Given the description of an element on the screen output the (x, y) to click on. 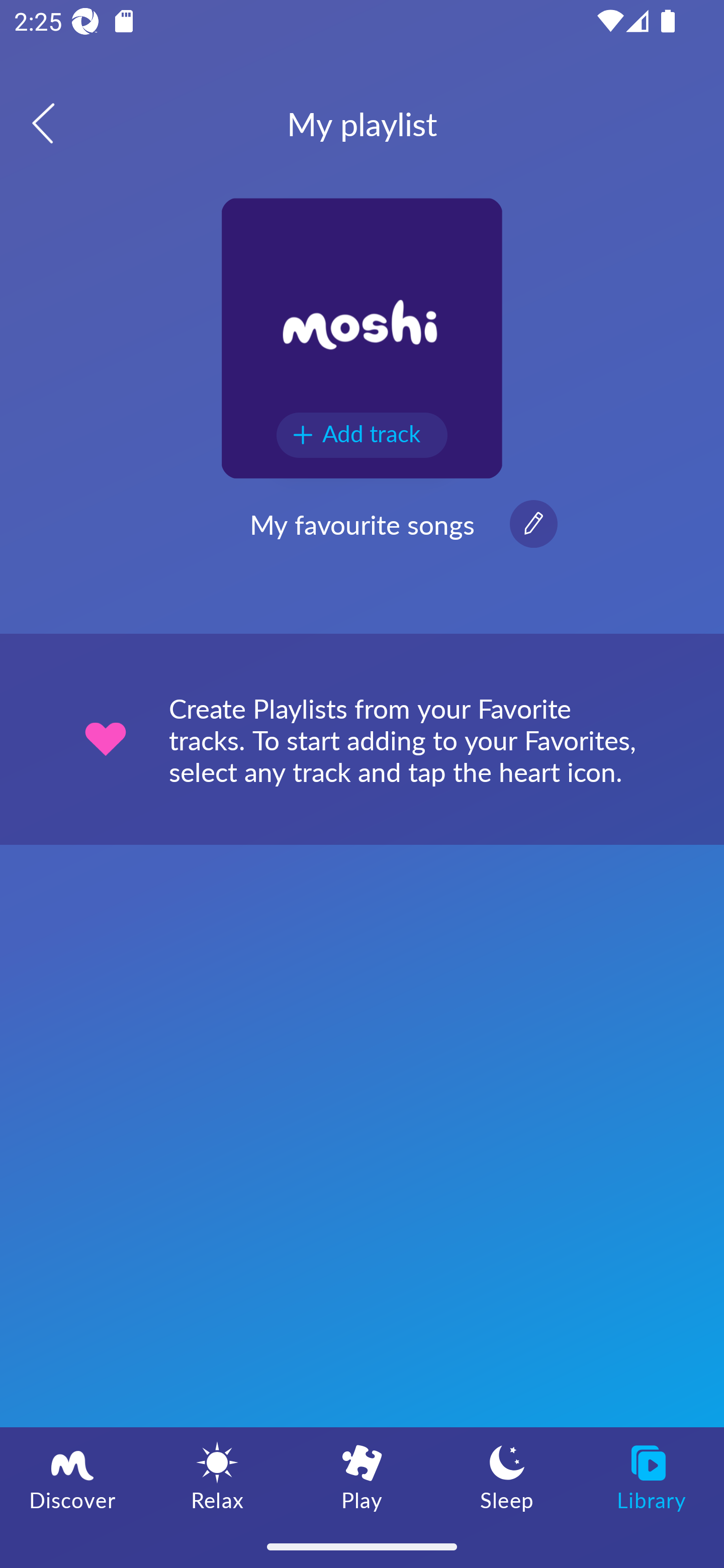
Add track (361, 434)
Discover (72, 1475)
Relax (216, 1475)
Play (361, 1475)
Sleep (506, 1475)
